Given the description of an element on the screen output the (x, y) to click on. 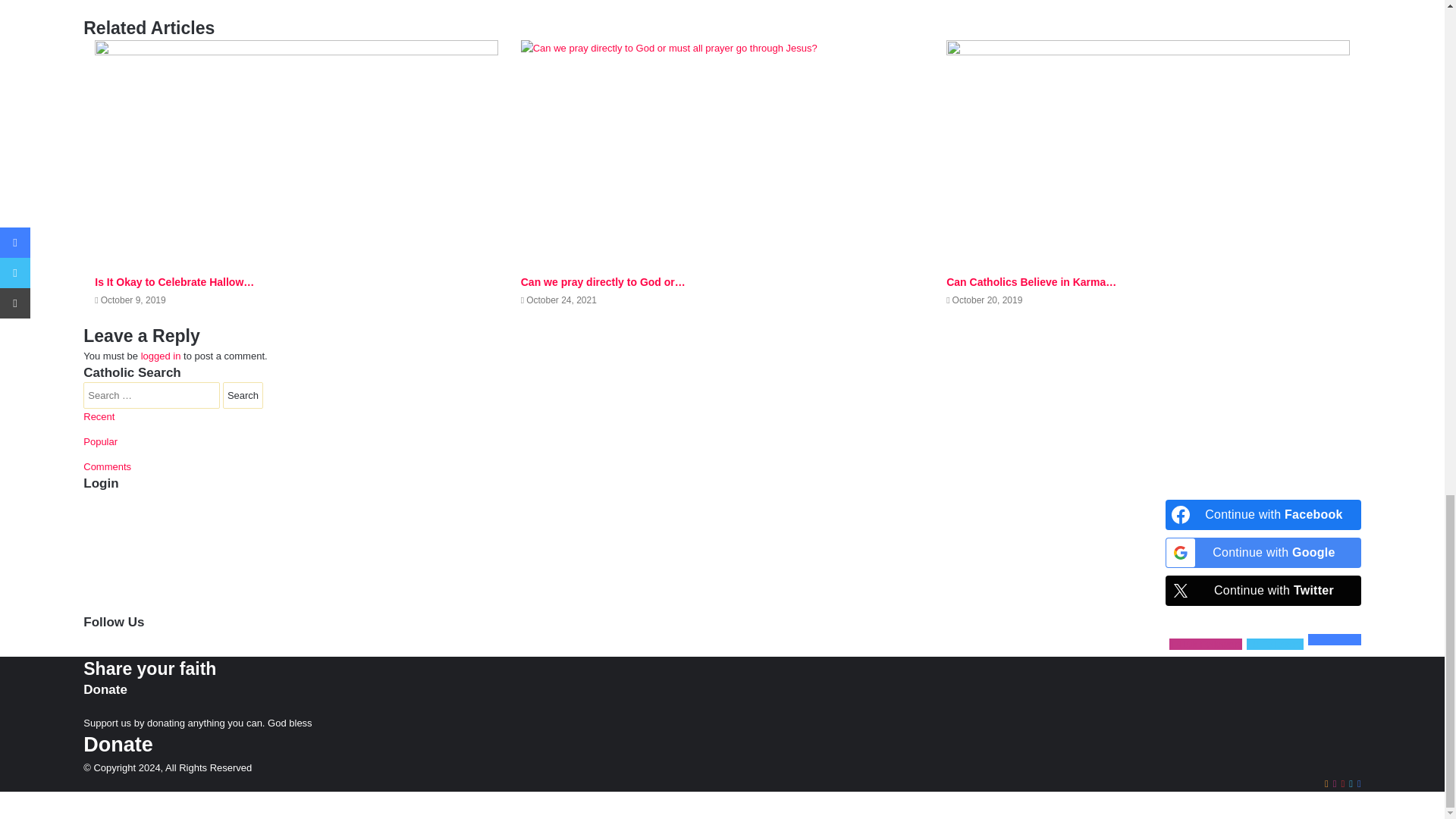
Search (242, 395)
Search (242, 395)
